Given the description of an element on the screen output the (x, y) to click on. 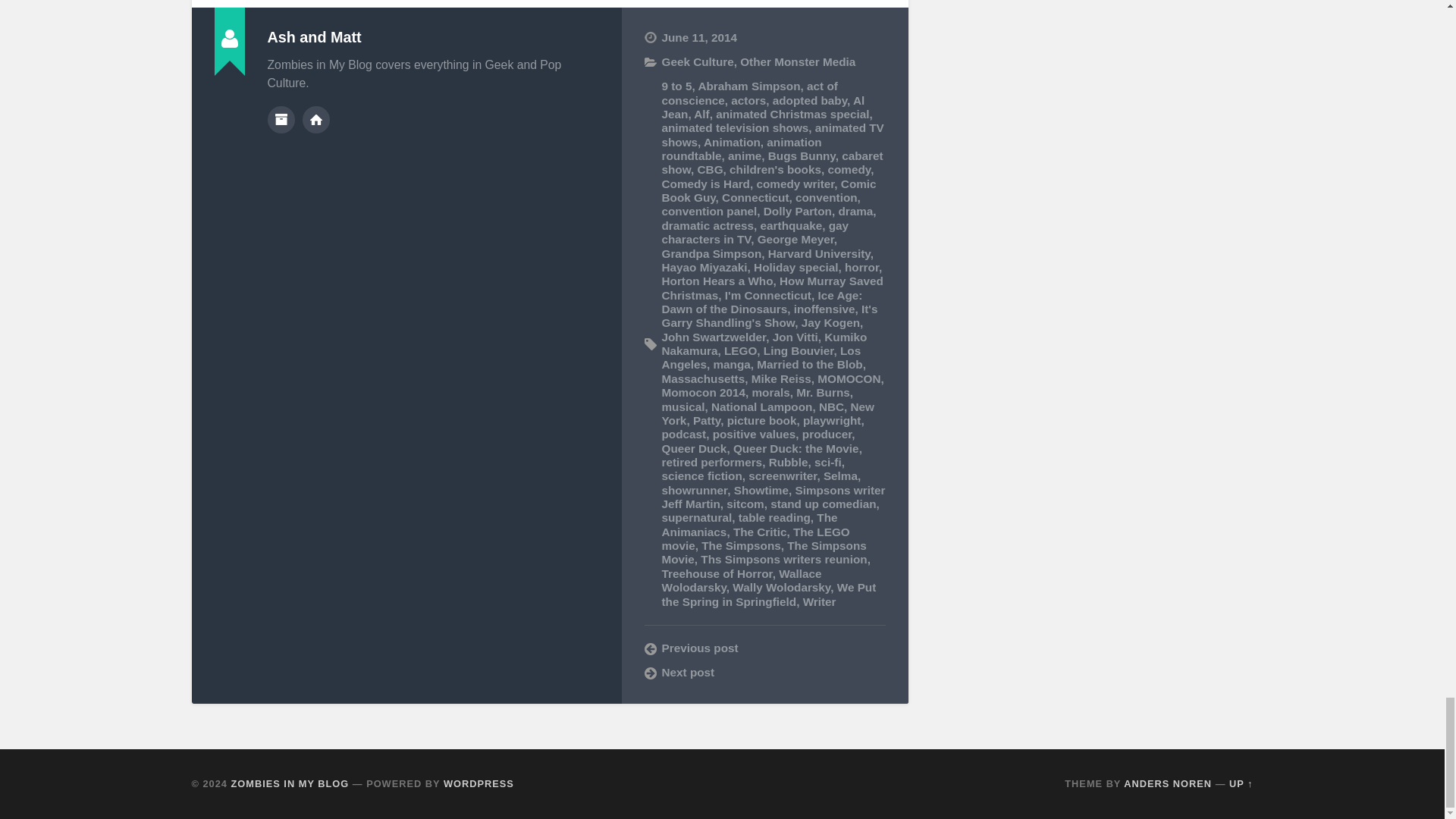
animated Christmas special (792, 113)
cabaret show (771, 162)
Connecticut (755, 196)
Author archive (280, 119)
children's books (775, 169)
Abraham Simpson (748, 85)
act of conscience (749, 92)
Al Jean (762, 107)
Geek Culture (697, 61)
comedy (848, 169)
